Given the description of an element on the screen output the (x, y) to click on. 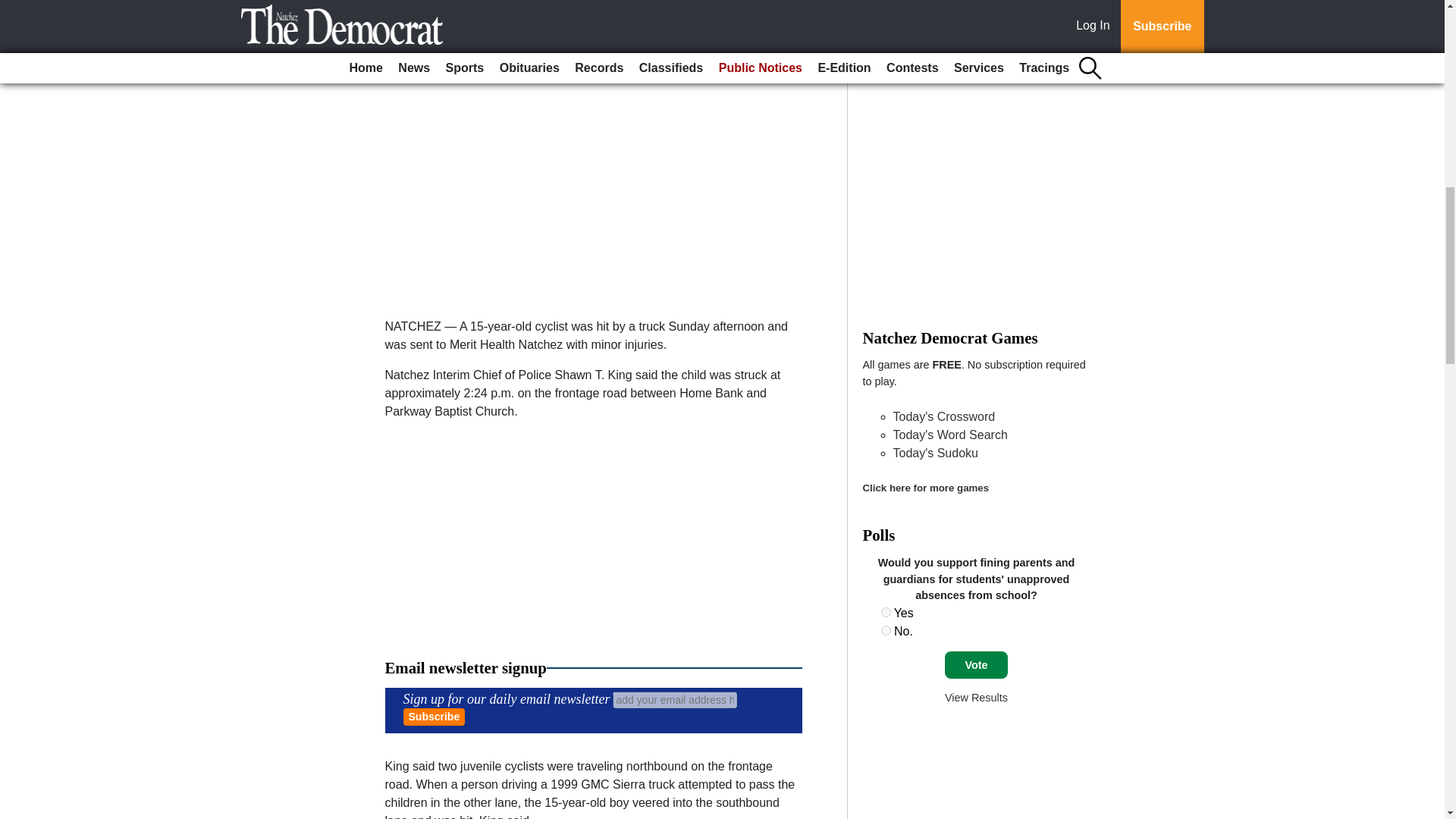
Subscribe (434, 716)
22422 (885, 630)
22421 (885, 612)
View Results Of This Poll (975, 697)
   Vote    (975, 664)
Subscribe (434, 716)
